Given the description of an element on the screen output the (x, y) to click on. 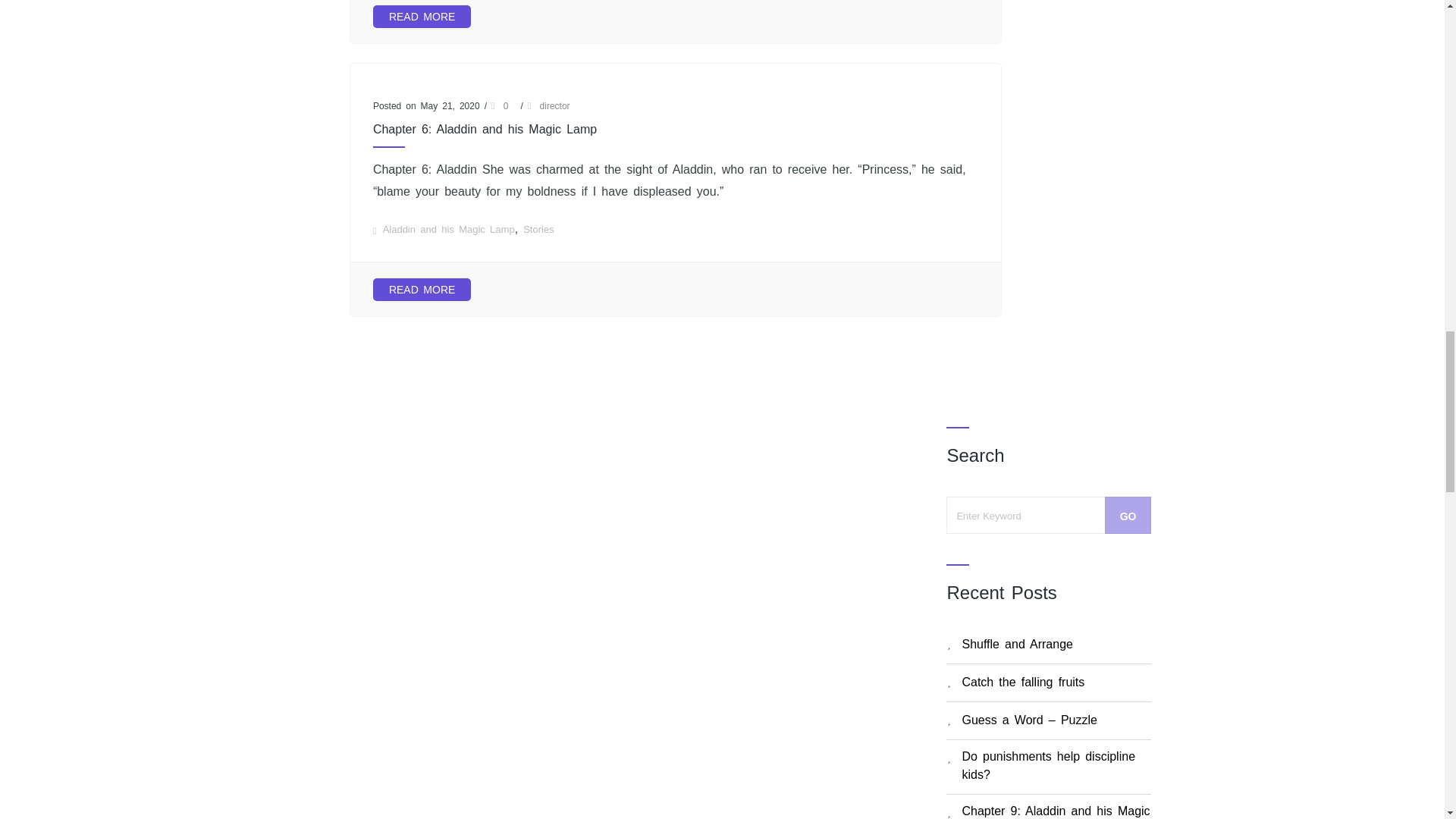
Go (1128, 514)
Enter Keyword (1048, 514)
